Given the description of an element on the screen output the (x, y) to click on. 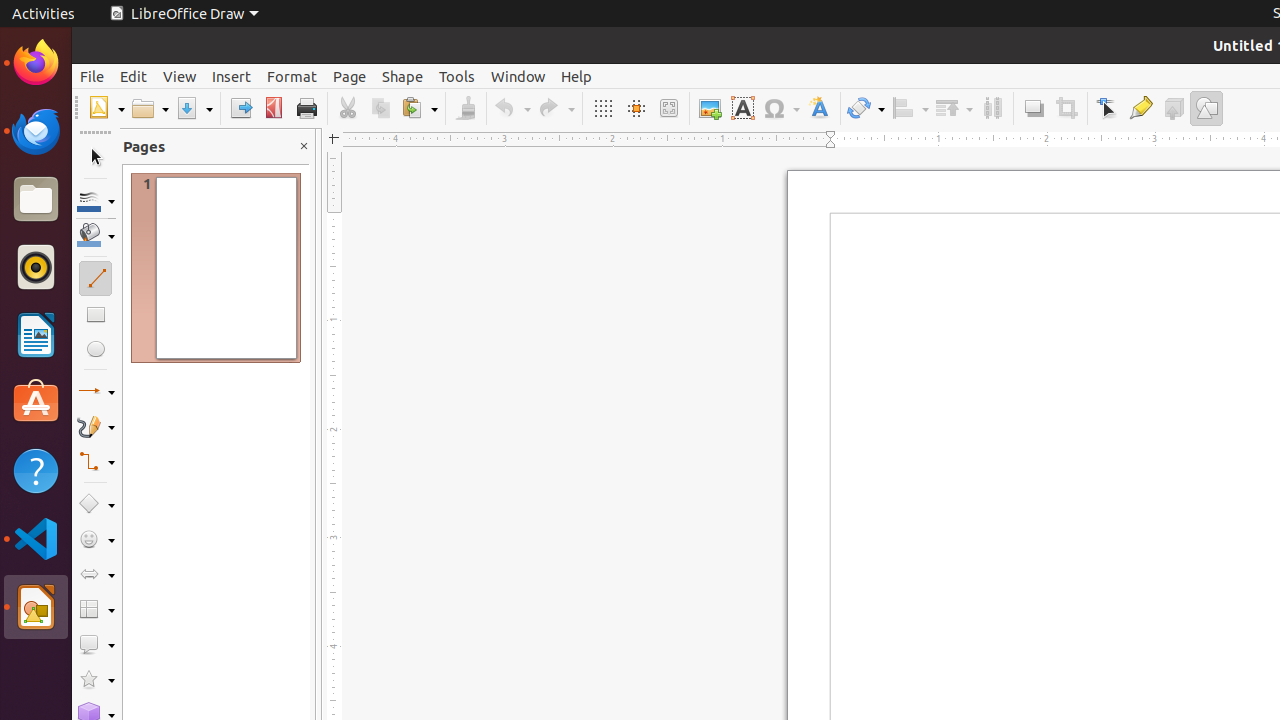
Align Element type: push-button (910, 108)
Text Box Element type: push-button (742, 108)
Cut Element type: push-button (347, 108)
LibreOffice Draw Element type: push-button (36, 607)
